Given the description of an element on the screen output the (x, y) to click on. 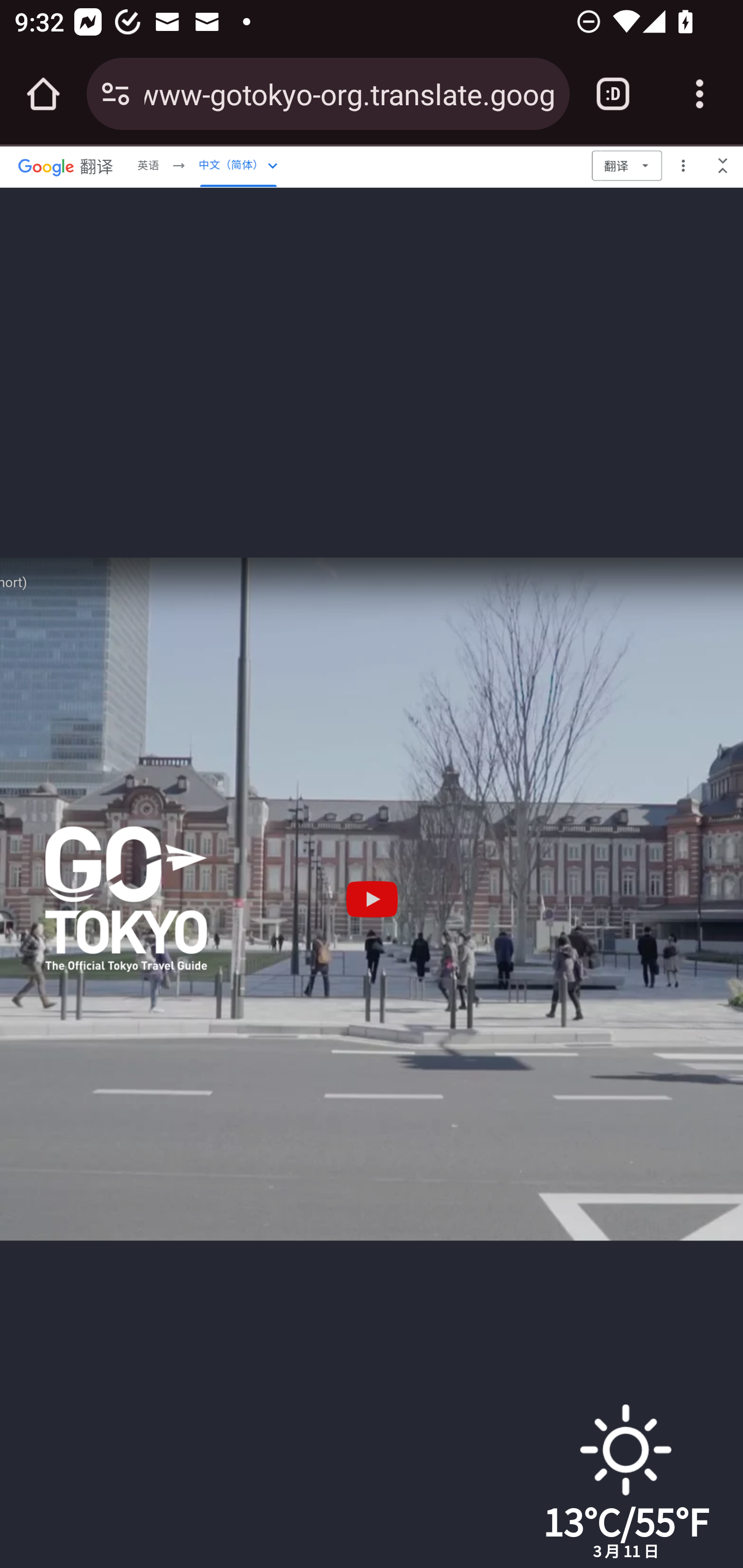
Open the home page (43, 93)
Connection is secure (115, 93)
Switch or close tabs (612, 93)
Customize and control Google Chrome (699, 93)
Google 翻译 Google 翻译 (65, 165)
英语 (147, 165)
中文（简体）  (237, 165)
更多菜单选项 (683, 165)
收起谷歌翻译导航栏 (722, 165)
Play (371, 899)
